Given the description of an element on the screen output the (x, y) to click on. 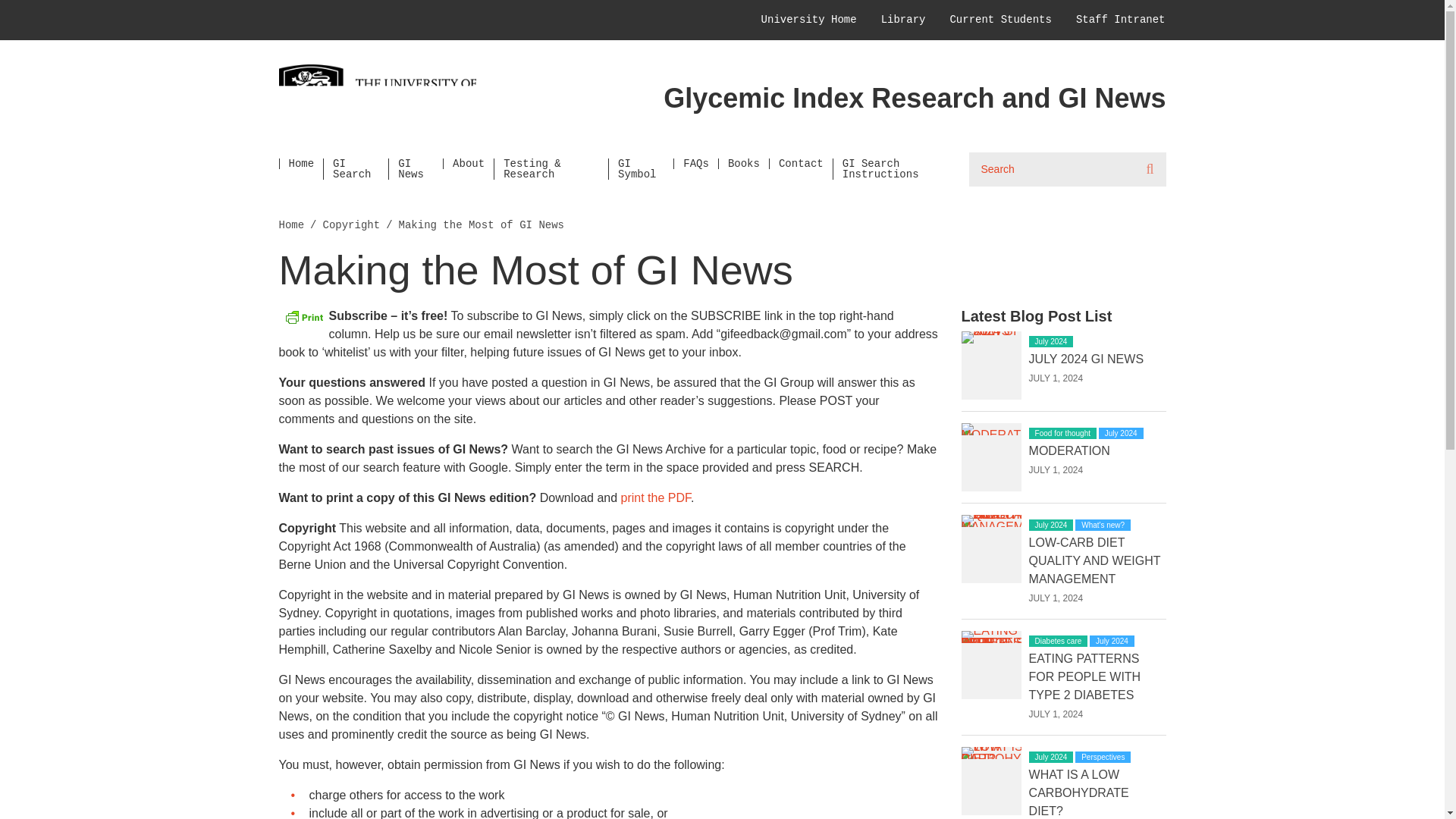
GI Symbol (640, 168)
FAQs (694, 163)
JULY 2024 GI NEWS (1085, 358)
GI News (415, 168)
Staff Intranet (1120, 19)
About (467, 163)
GI Search (355, 168)
print the PDF (655, 497)
GI Search Instructions (900, 168)
Contact (800, 163)
